Given the description of an element on the screen output the (x, y) to click on. 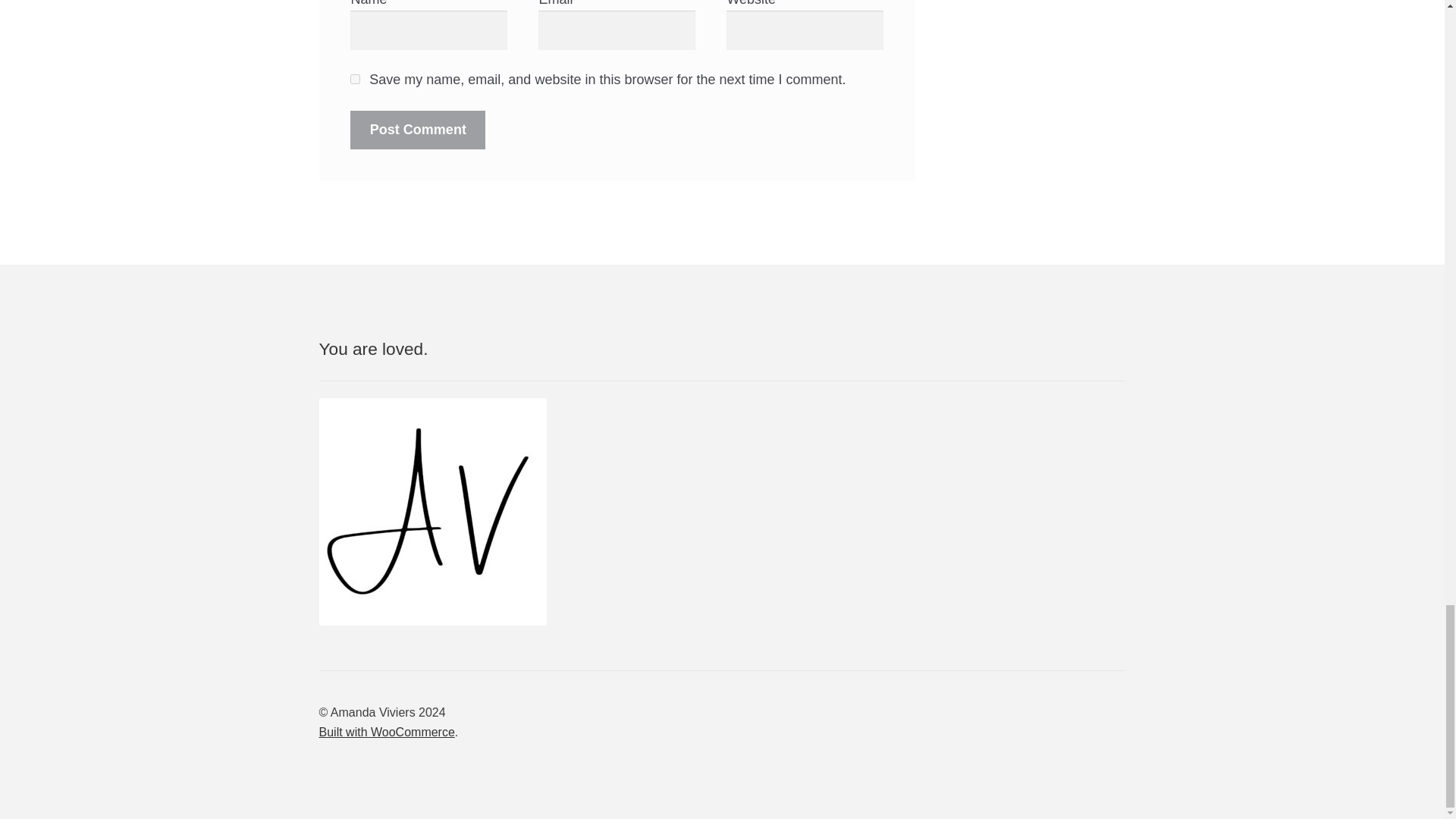
WooCommerce - The Best eCommerce Platform for WordPress (386, 731)
yes (354, 79)
Post Comment (417, 129)
